Given the description of an element on the screen output the (x, y) to click on. 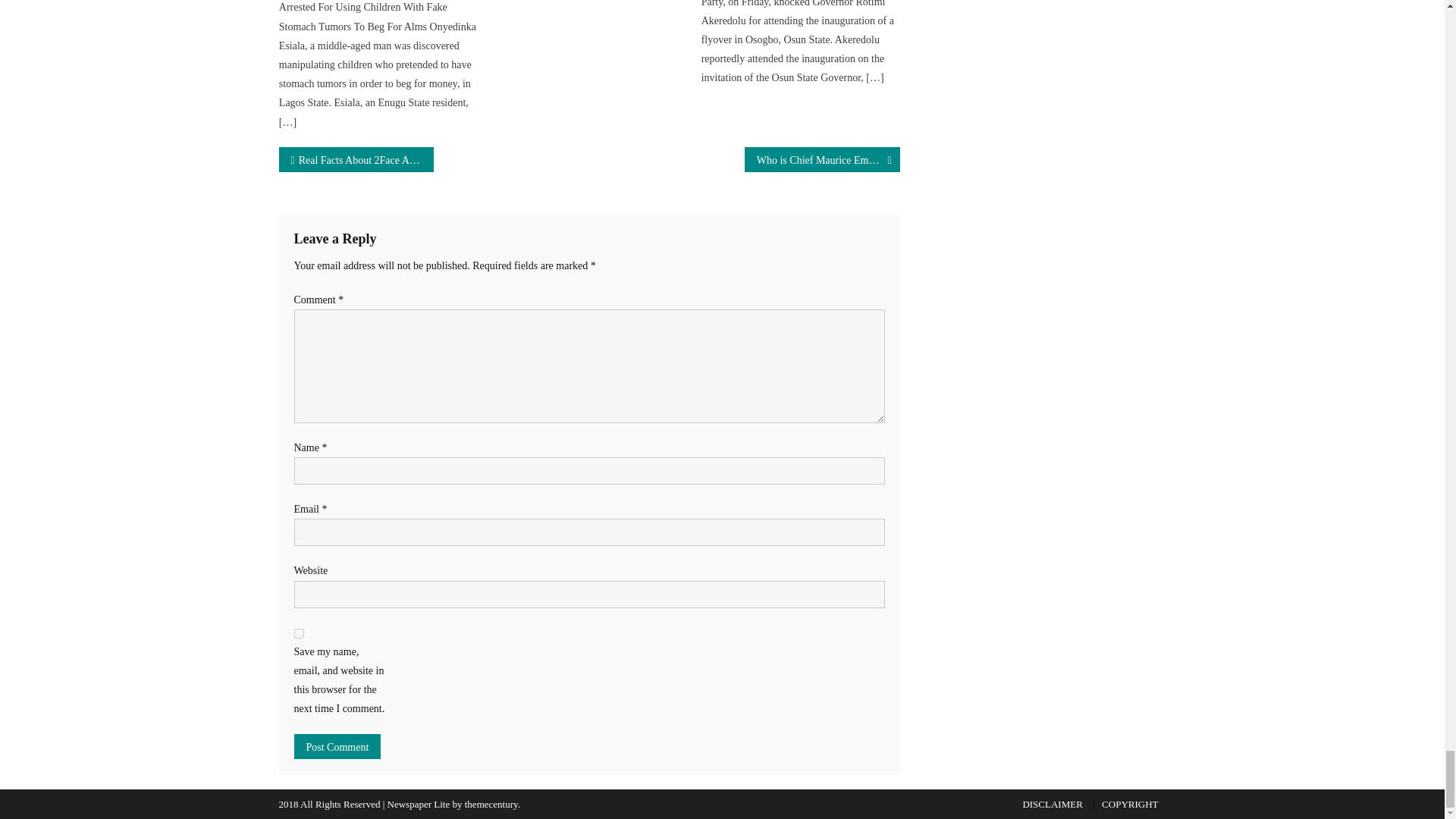
Post Comment (337, 746)
yes (299, 633)
